Given the description of an element on the screen output the (x, y) to click on. 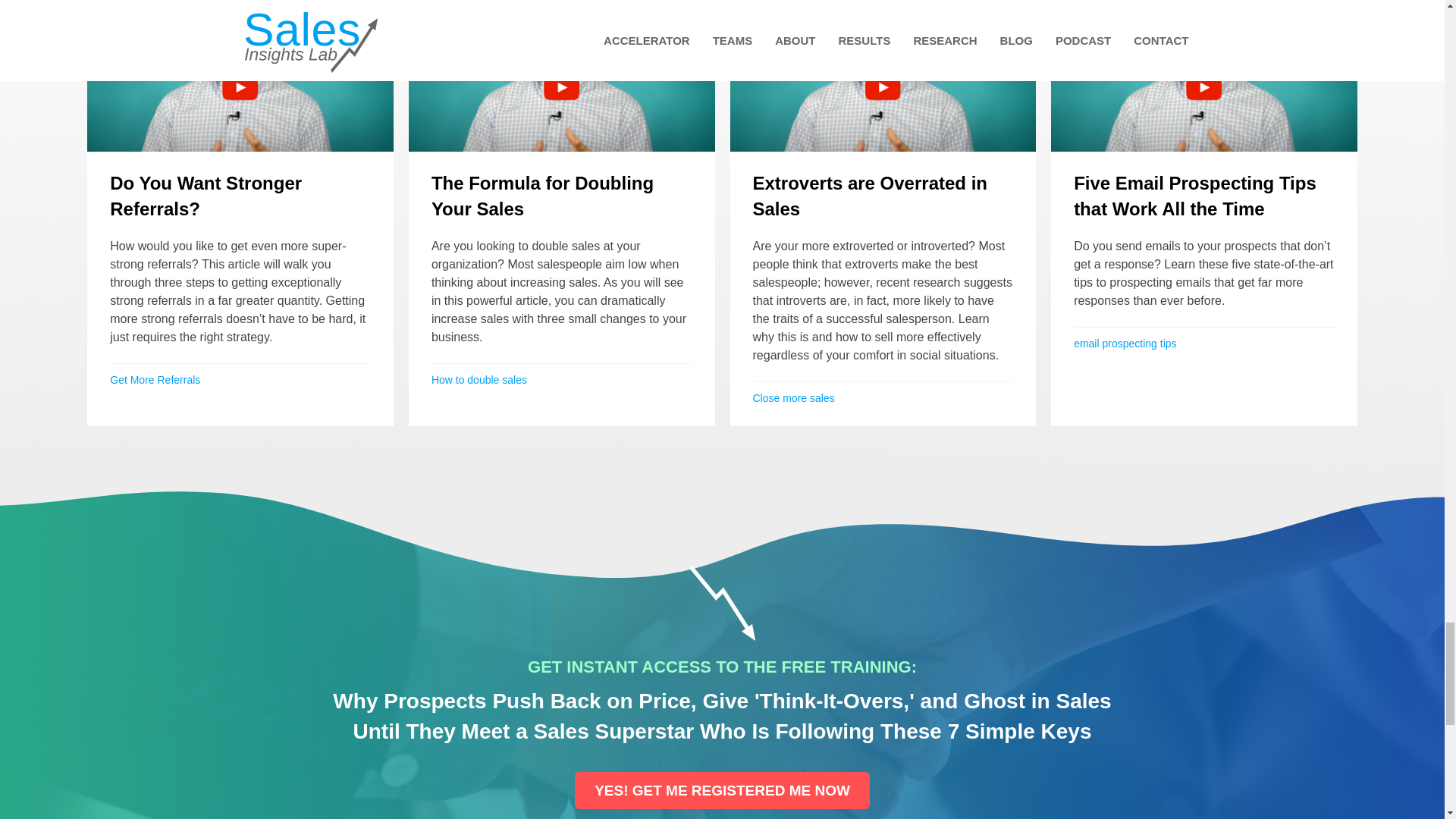
Close more sales (793, 398)
Get More Referrals (155, 379)
How to double sales (478, 379)
